Given the description of an element on the screen output the (x, y) to click on. 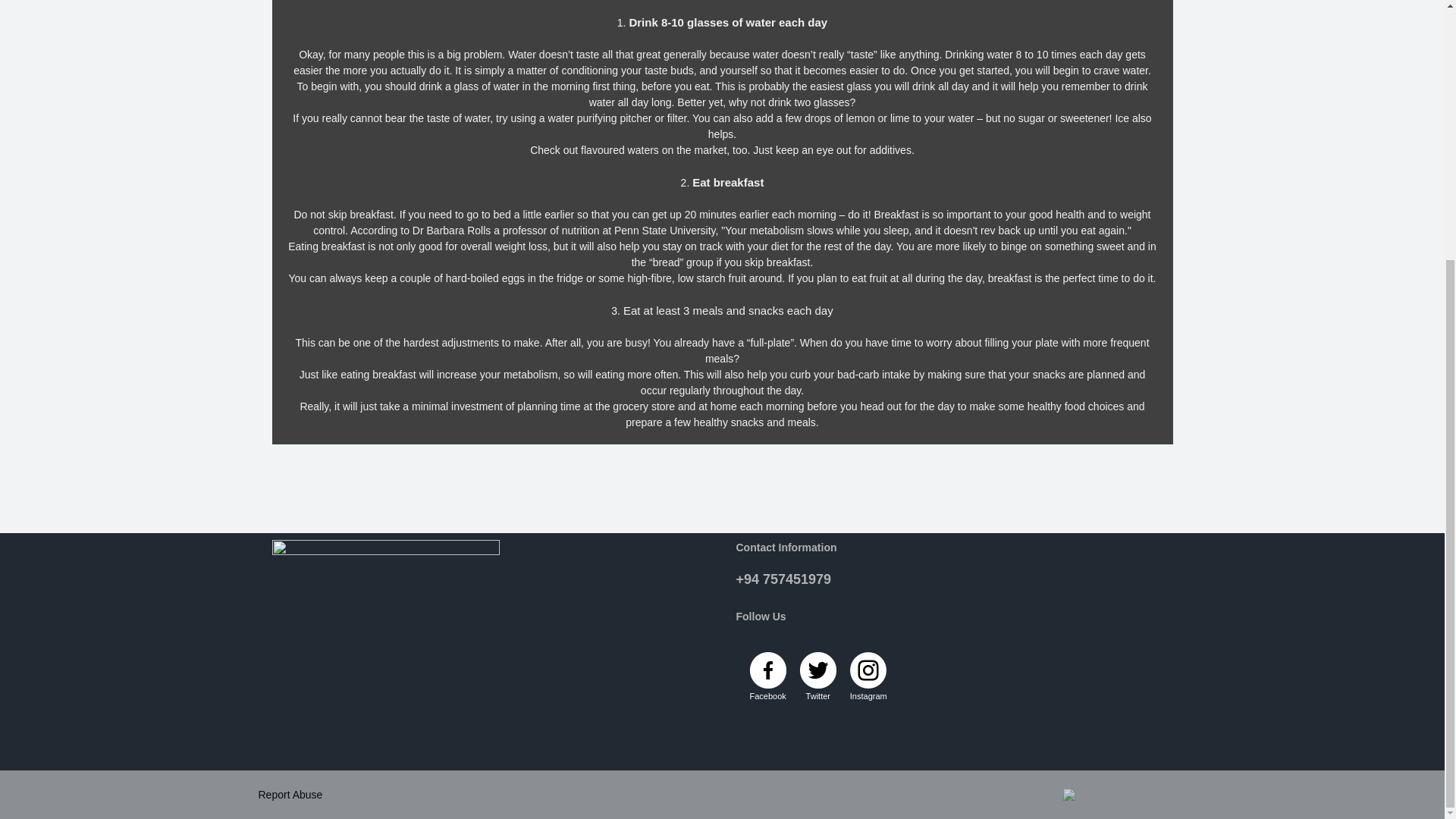
Twitter (817, 696)
Instagram (868, 696)
Facebook (767, 696)
Report Abuse (289, 794)
